Given the description of an element on the screen output the (x, y) to click on. 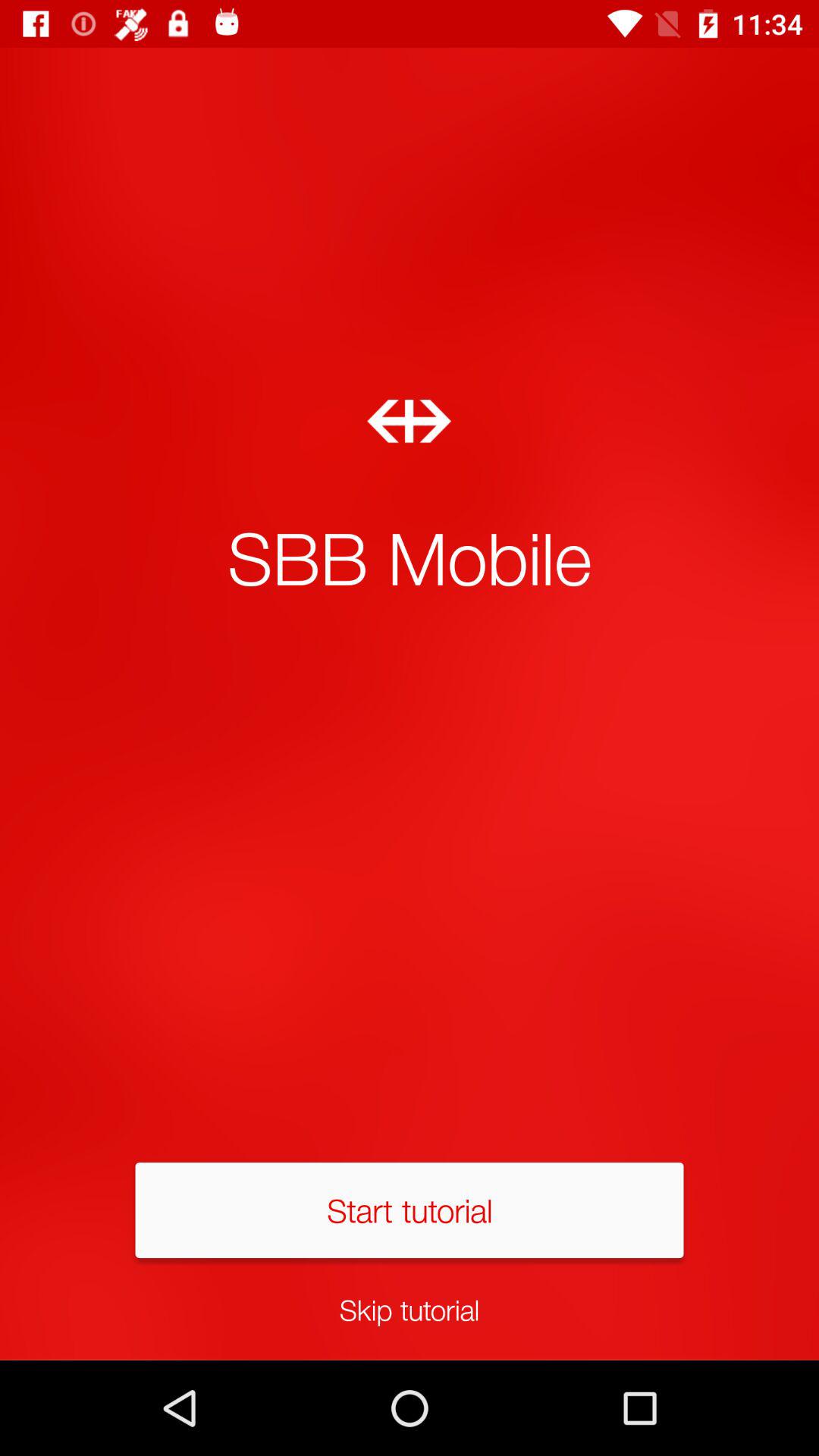
turn on skip tutorial icon (409, 1309)
